Given the description of an element on the screen output the (x, y) to click on. 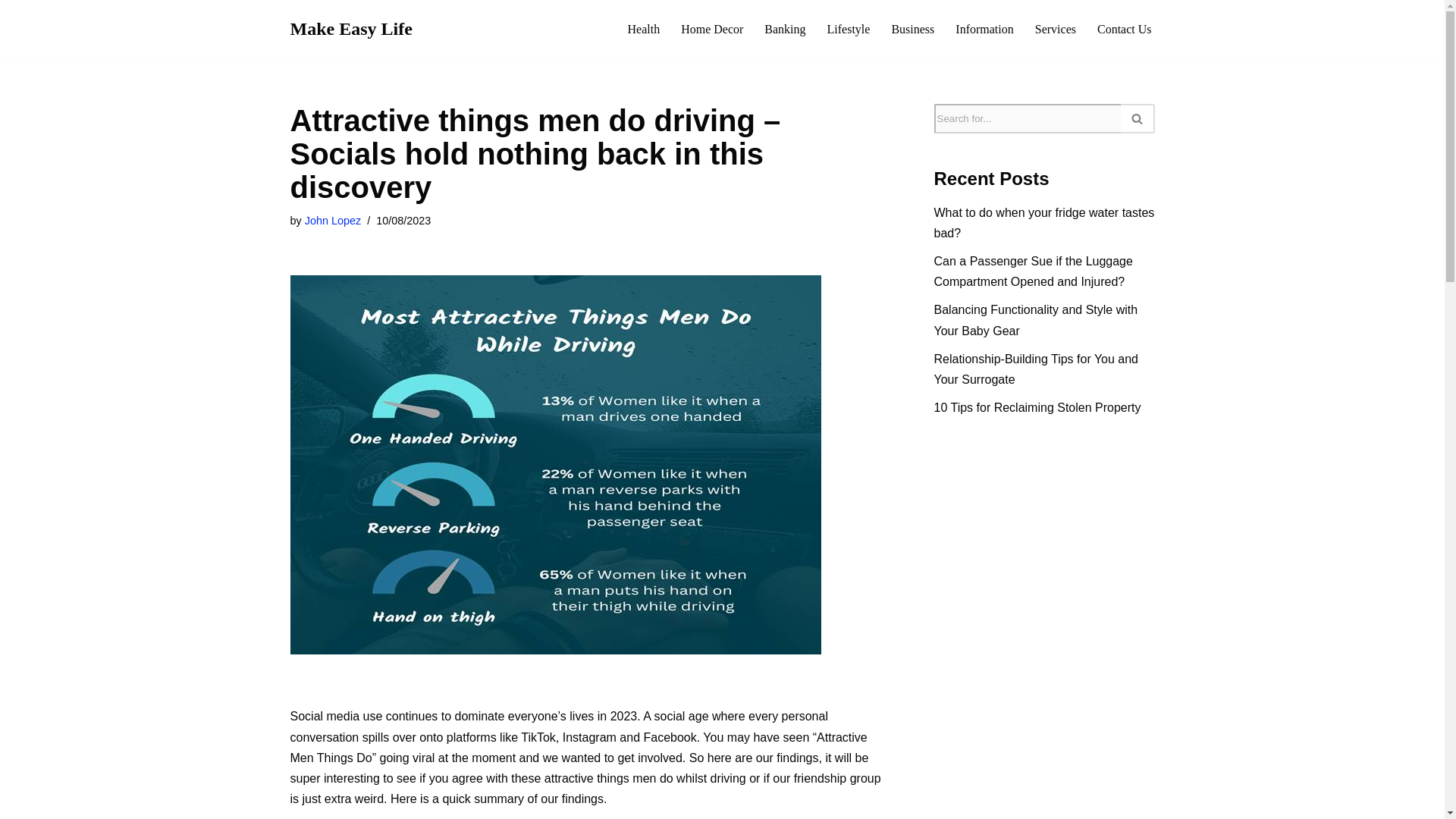
Make Easy Life (350, 29)
Relationship-Building Tips for You and Your Surrogate (1036, 368)
Health (643, 28)
Information (984, 28)
Home Decor (711, 28)
Lifestyle (848, 28)
What to do when your fridge water tastes bad? (1044, 222)
Posts by John Lopez (332, 220)
10 Tips for Reclaiming Stolen Property (1037, 407)
Skip to content (11, 31)
Contact Us (1124, 28)
Services (1055, 28)
Business (912, 28)
John Lopez (332, 220)
